Given the description of an element on the screen output the (x, y) to click on. 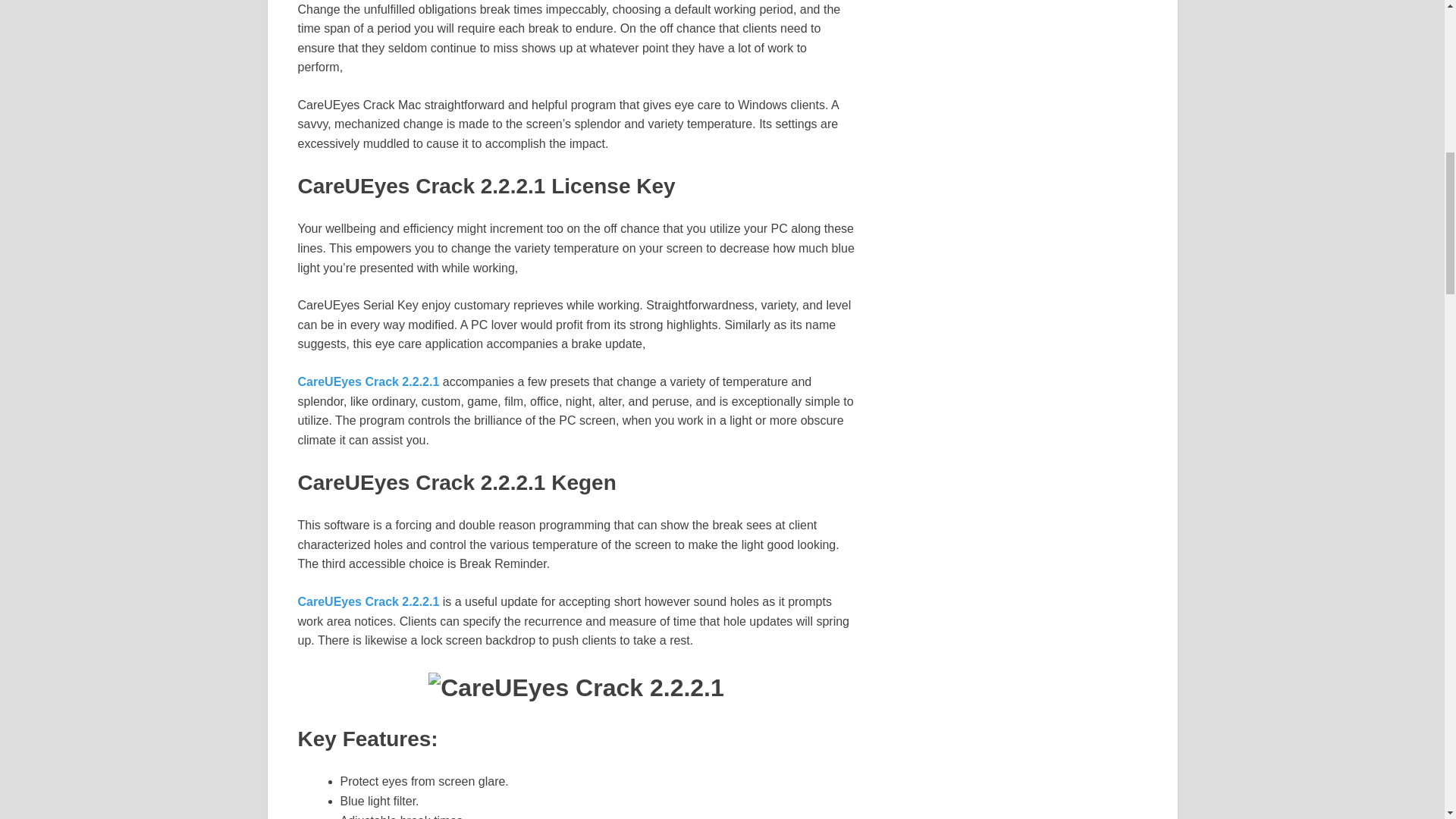
CareUEyes Crack 2.2.2.1 (368, 381)
CareUEyes Crack 2.2.2.1 (368, 601)
